Given the description of an element on the screen output the (x, y) to click on. 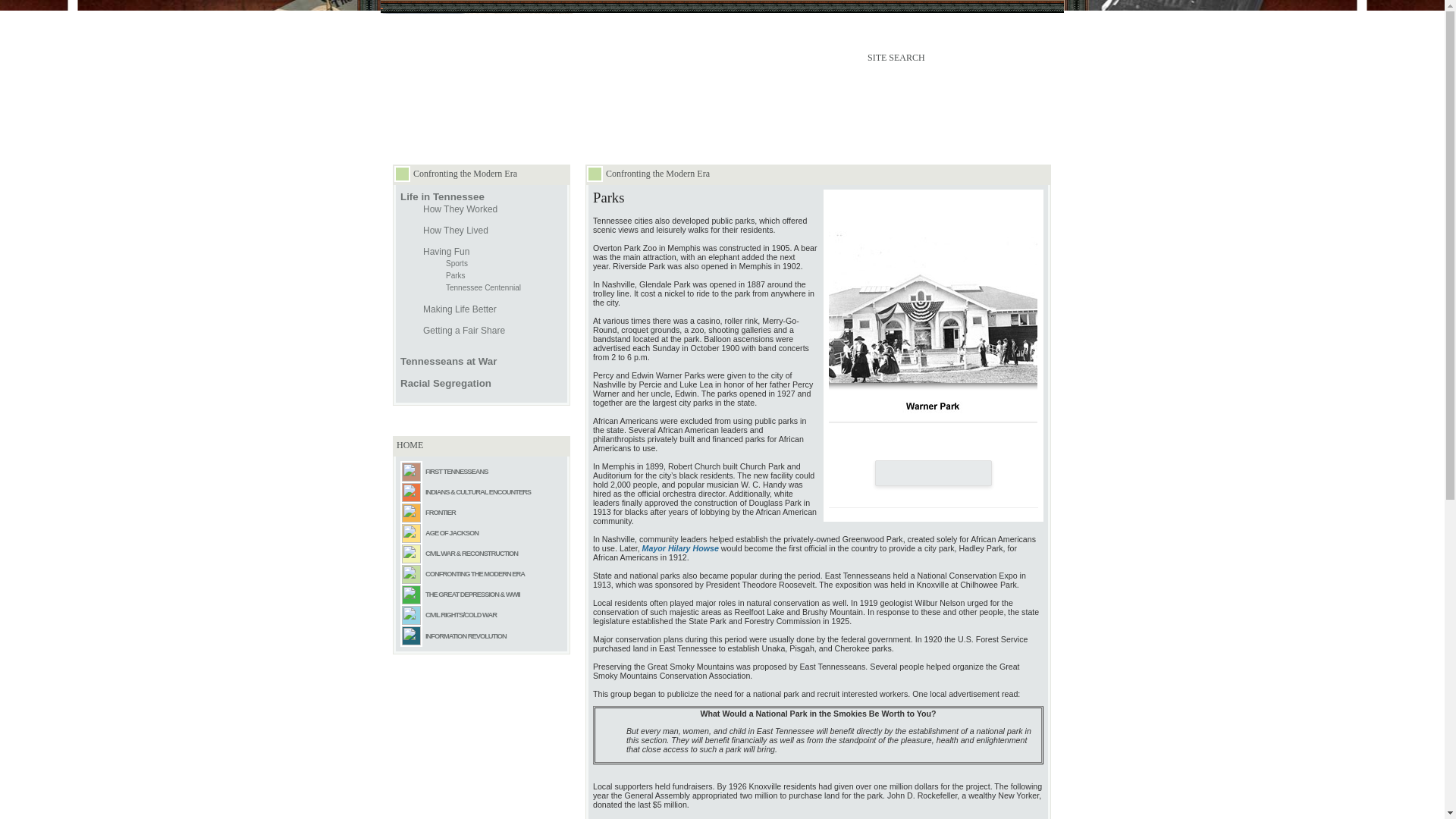
FIRST TENNESSEANS (456, 470)
How They Worked (460, 208)
Previous (898, 473)
Getting a Fair Share (464, 330)
AGE OF JACKSON (452, 533)
Tennessee Centennial (483, 287)
HOME (409, 444)
Tennesseans at War (448, 360)
Next (967, 473)
Mayor Hilary Howse (680, 547)
Making Life Better (459, 308)
Play (932, 473)
INFORMATION REVOLUTION (465, 635)
Confronting the Modern Era (464, 173)
Having Fun (445, 251)
